Given the description of an element on the screen output the (x, y) to click on. 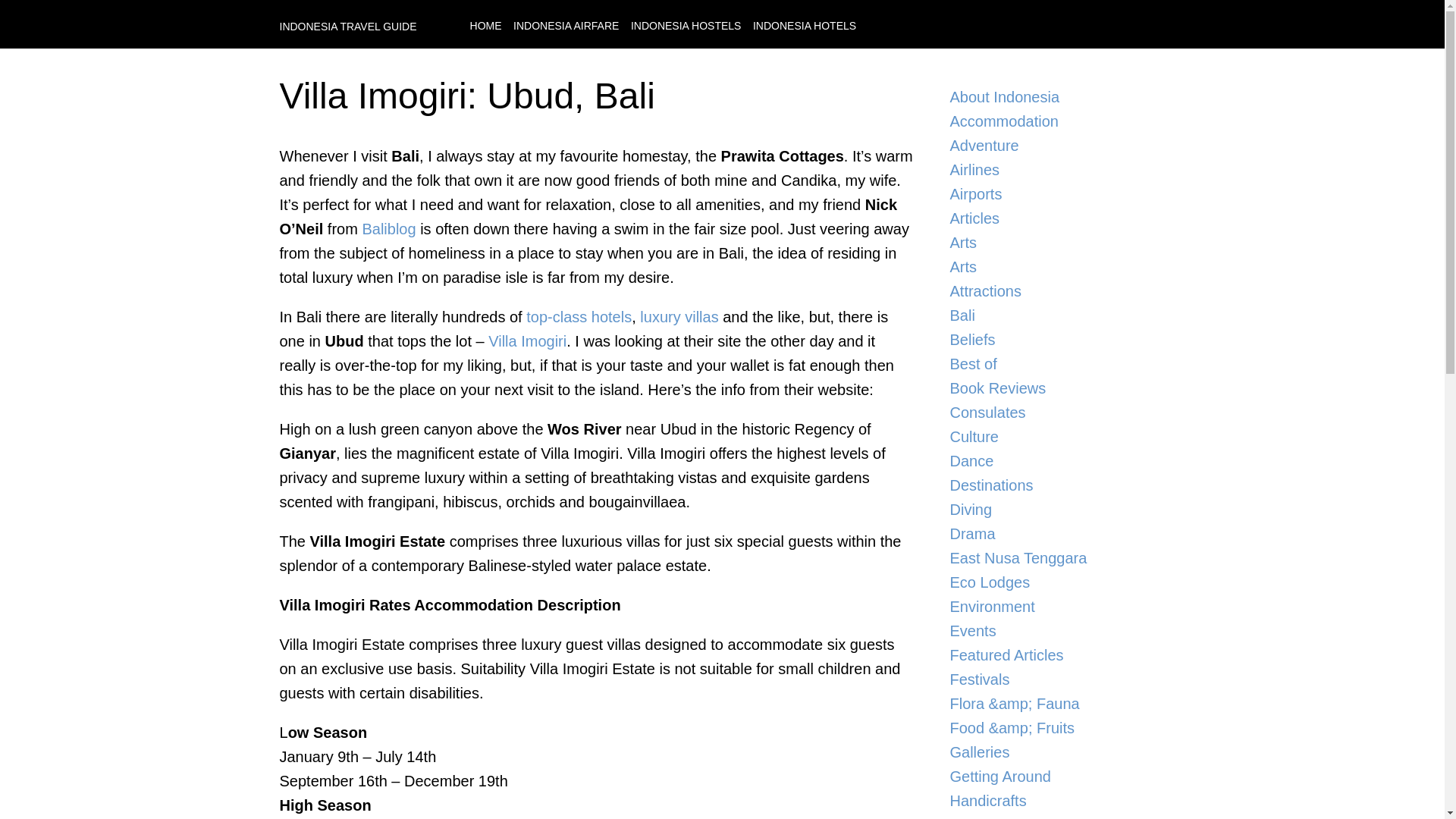
INDONESIA AIRFARE (565, 25)
Environment (1051, 606)
Events (1051, 630)
Airlines (1051, 169)
Dance (1051, 460)
Beliefs (1051, 339)
Eco Lodges (1051, 582)
Bali (1051, 315)
Airports (1051, 193)
Arts (1051, 242)
